Given the description of an element on the screen output the (x, y) to click on. 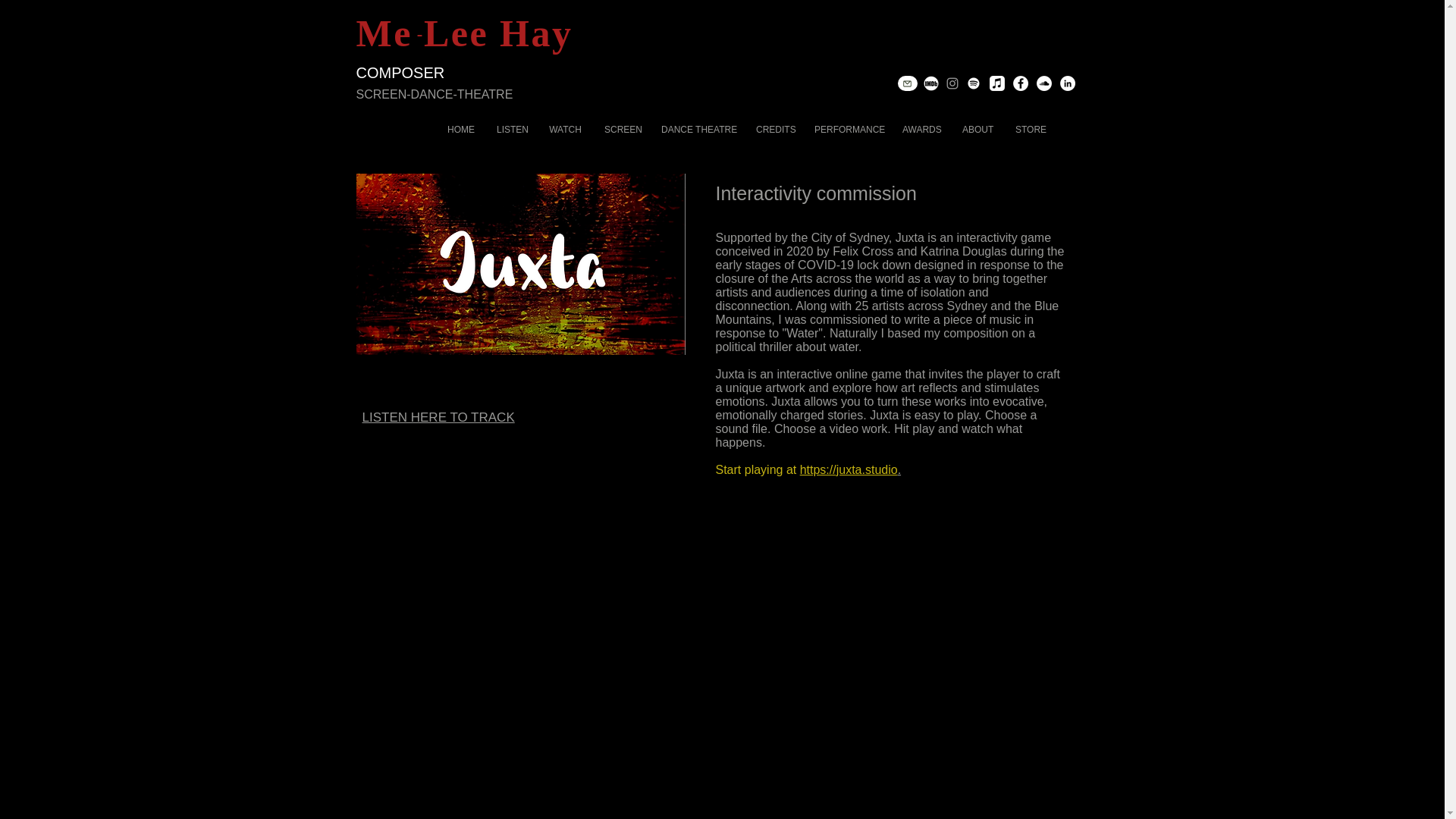
HOME (459, 129)
PERFORMANCE (847, 129)
WATCH (564, 129)
AWARDS (920, 129)
LISTEN HERE TO TRACK (438, 417)
ABOUT (977, 129)
